Given the description of an element on the screen output the (x, y) to click on. 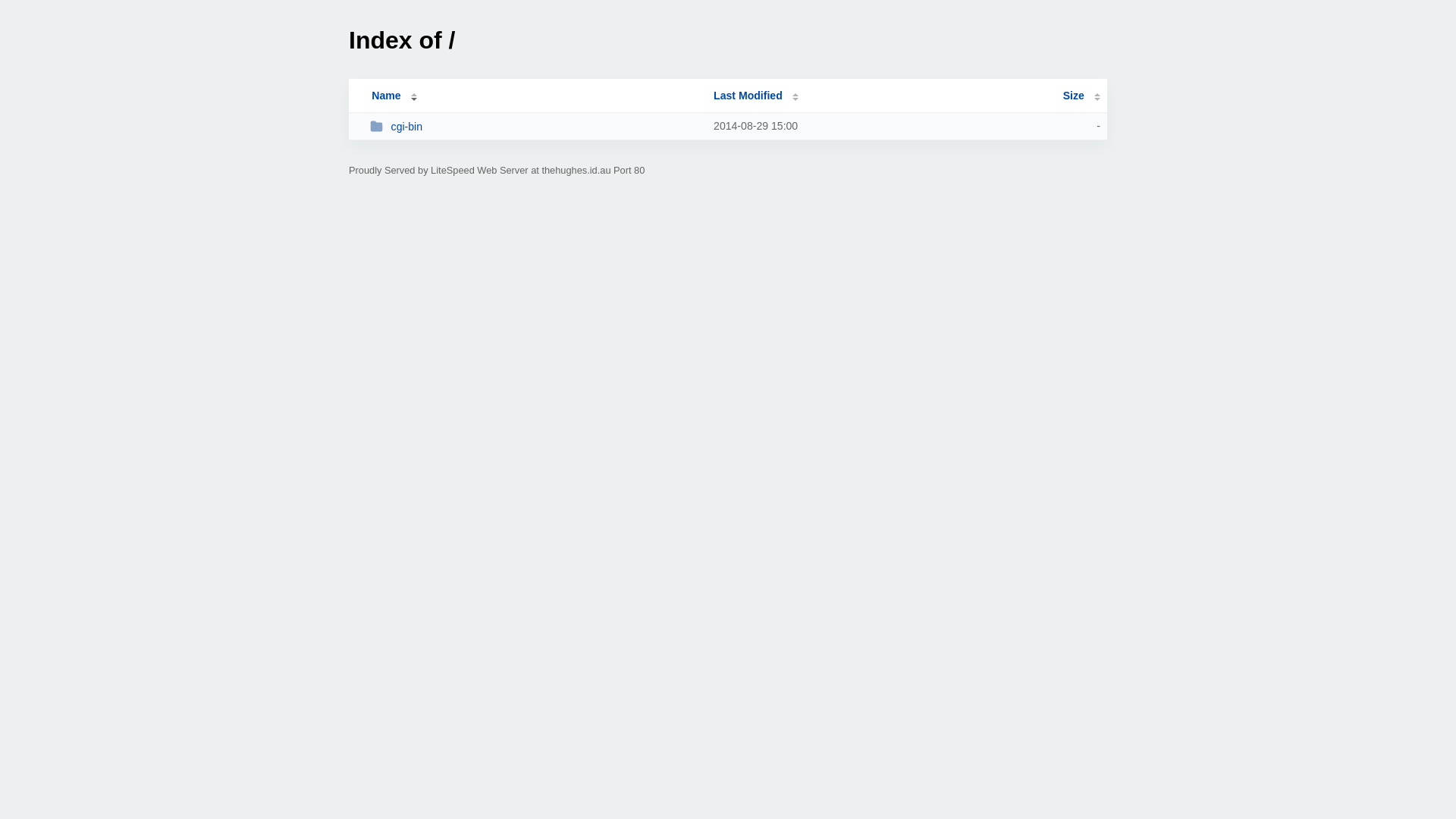
Size Element type: text (1081, 95)
Name Element type: text (385, 95)
cgi-bin Element type: text (534, 125)
Last Modified Element type: text (755, 95)
